Given the description of an element on the screen output the (x, y) to click on. 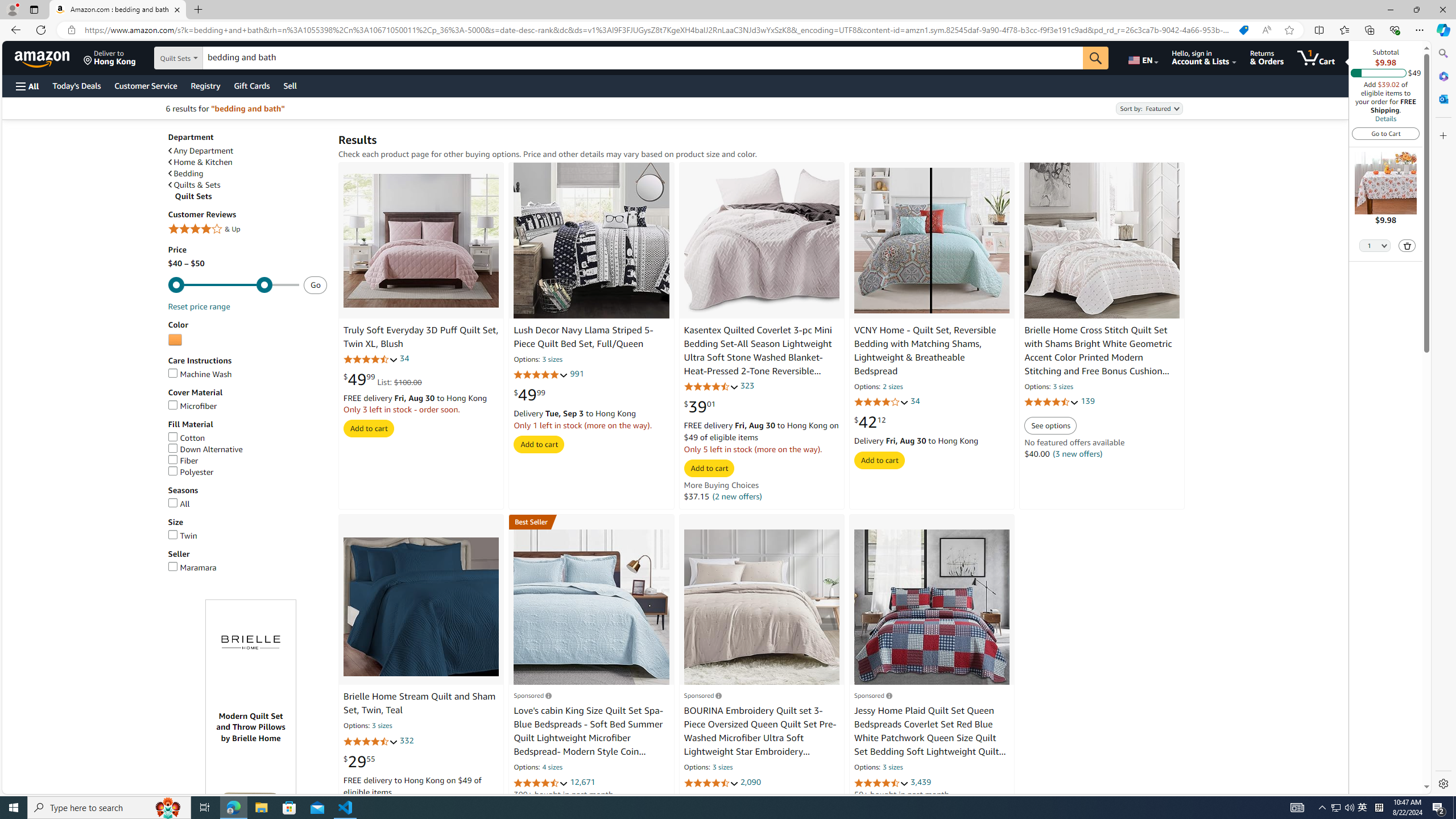
All (247, 504)
Bedding (185, 173)
Machine Wash (247, 374)
4 sizes (552, 767)
Maramara (191, 567)
323 (746, 384)
139 (1087, 401)
Search in (210, 58)
Down Alternative (205, 449)
34 (915, 401)
(3 new offers) (1077, 453)
3.9 out of 5 stars (880, 402)
Reset price range (198, 306)
4.5 out of 5 stars (541, 782)
